Given the description of an element on the screen output the (x, y) to click on. 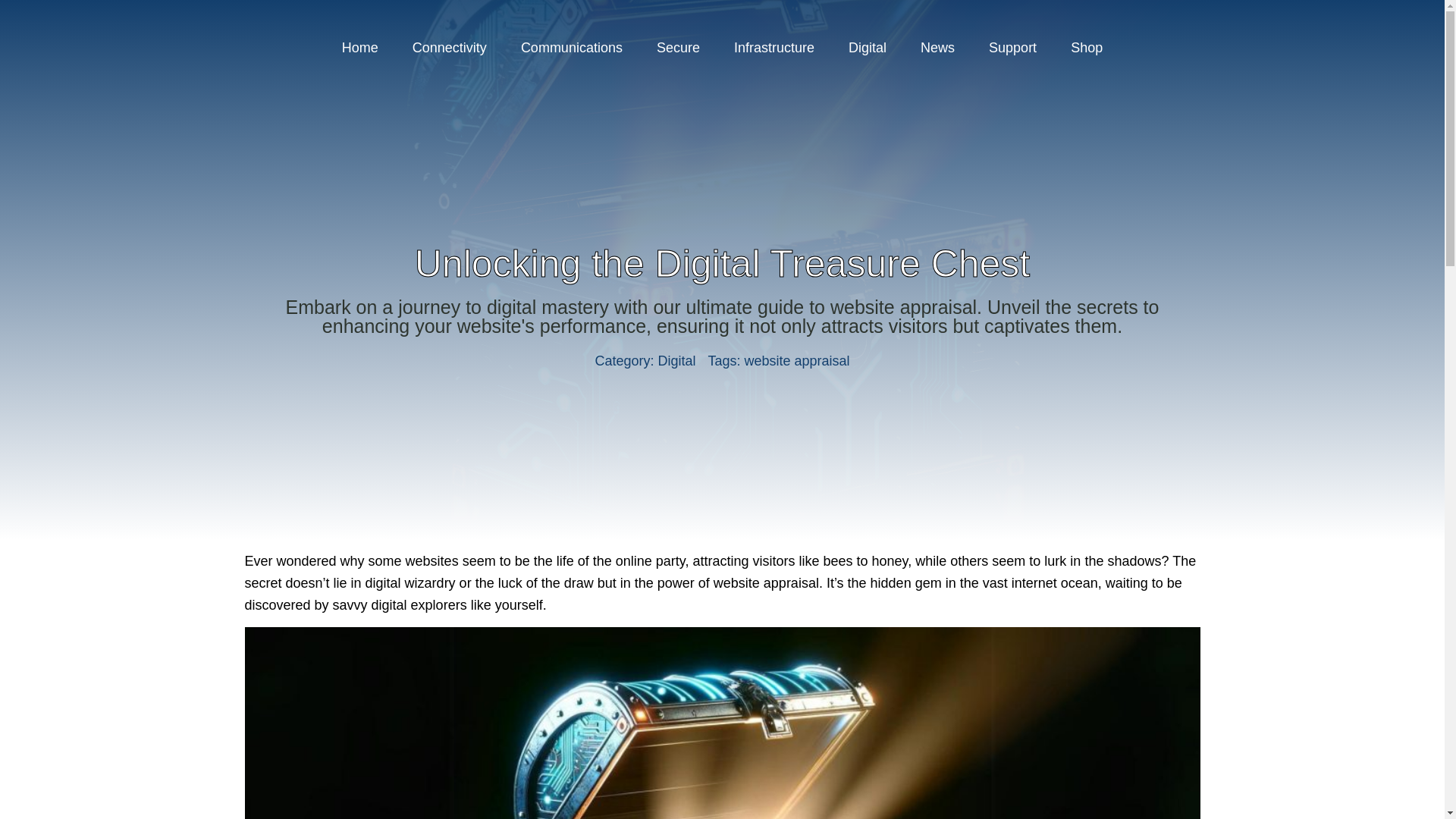
Connectivity (449, 47)
Secure (678, 47)
News (937, 47)
Infrastructure (774, 47)
Shop (1086, 47)
Home (359, 47)
Digital (676, 360)
website appraisal (797, 360)
Support (1012, 47)
Communications (571, 47)
Digital (866, 47)
